Given the description of an element on the screen output the (x, y) to click on. 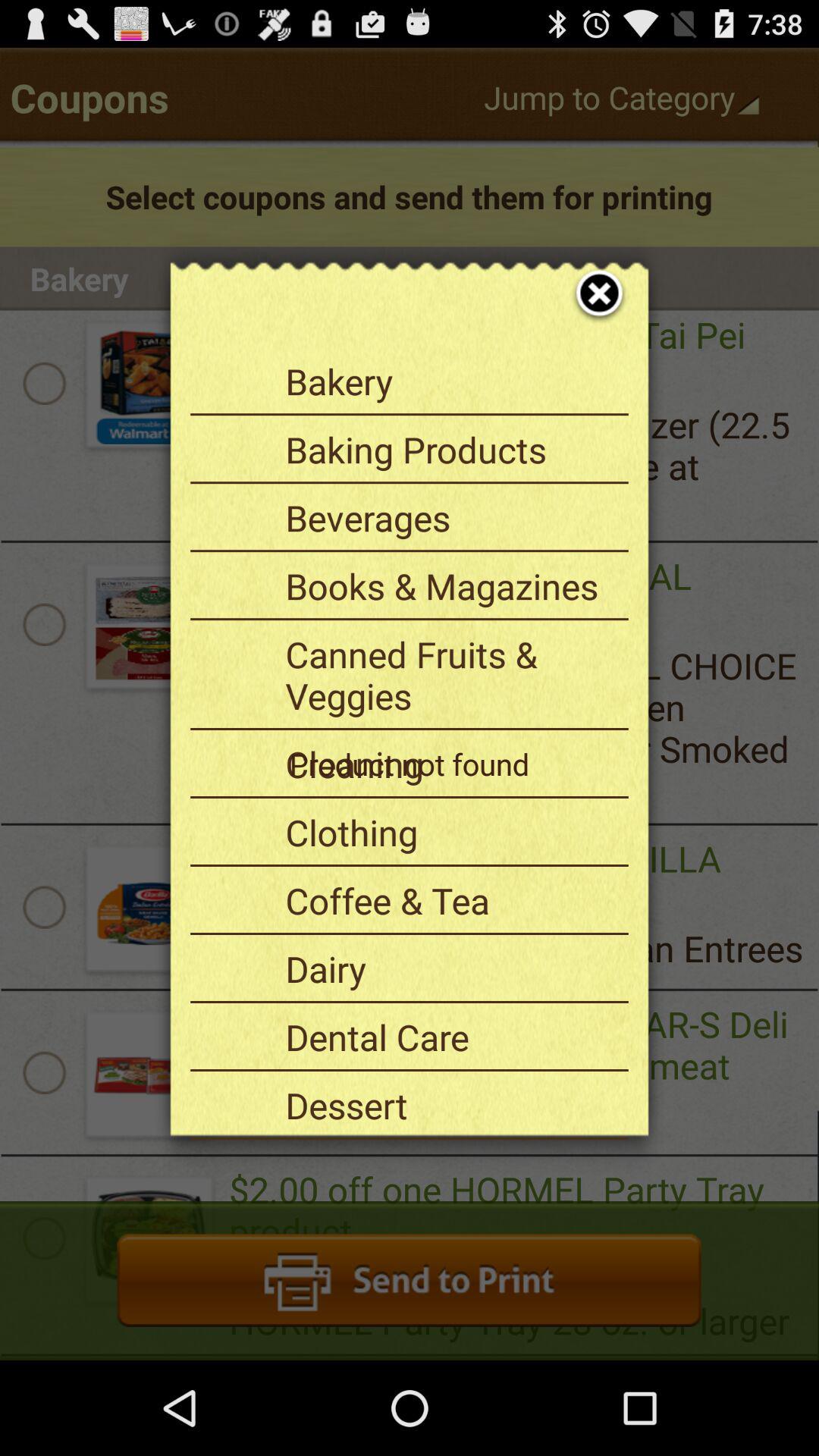
choose the dessert item (451, 1104)
